Given the description of an element on the screen output the (x, y) to click on. 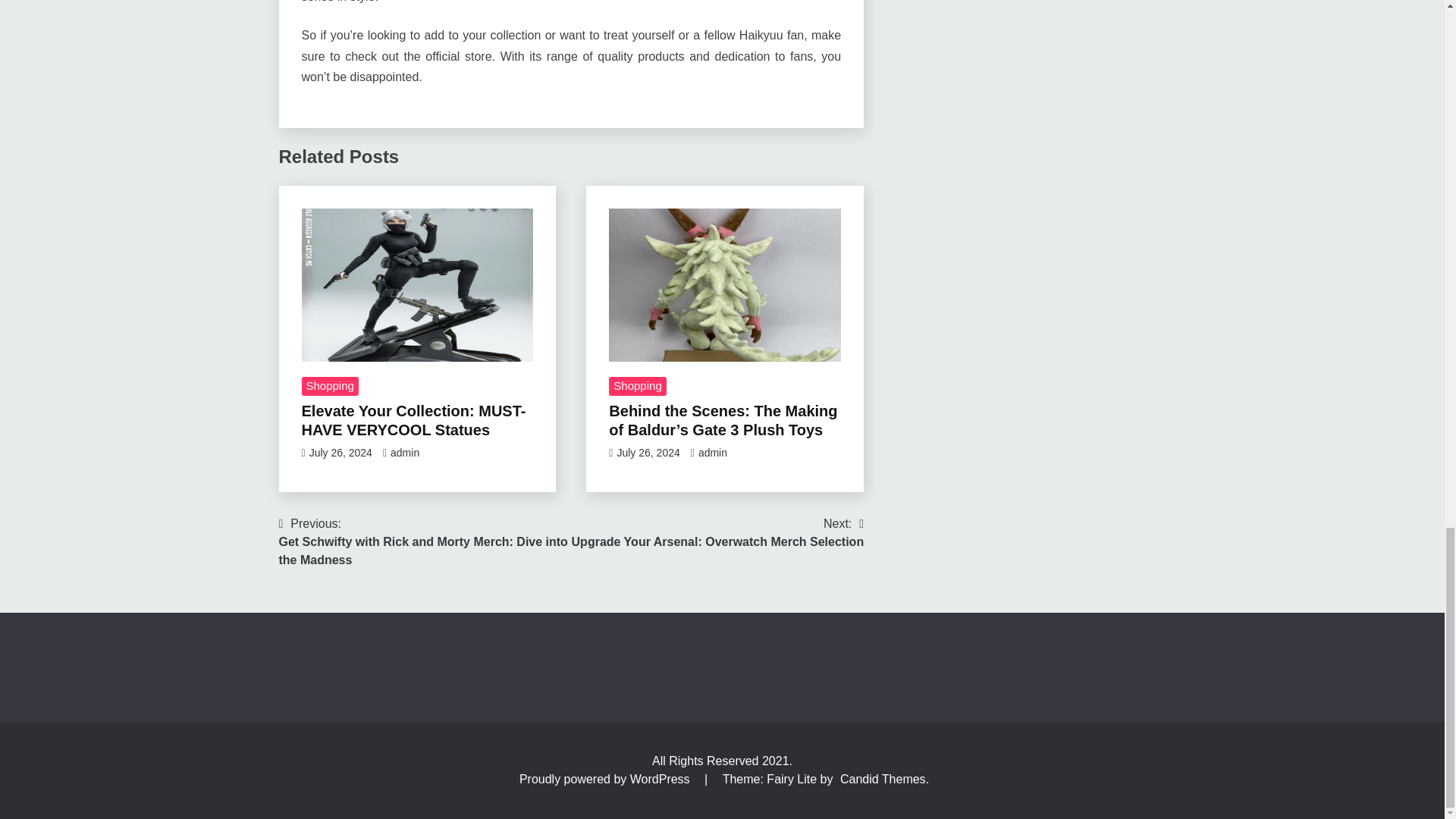
admin (712, 452)
Shopping (636, 386)
July 26, 2024 (340, 452)
Shopping (329, 386)
admin (718, 533)
Elevate Your Collection: MUST-HAVE VERYCOOL Statues (404, 452)
July 26, 2024 (413, 420)
